Given the description of an element on the screen output the (x, y) to click on. 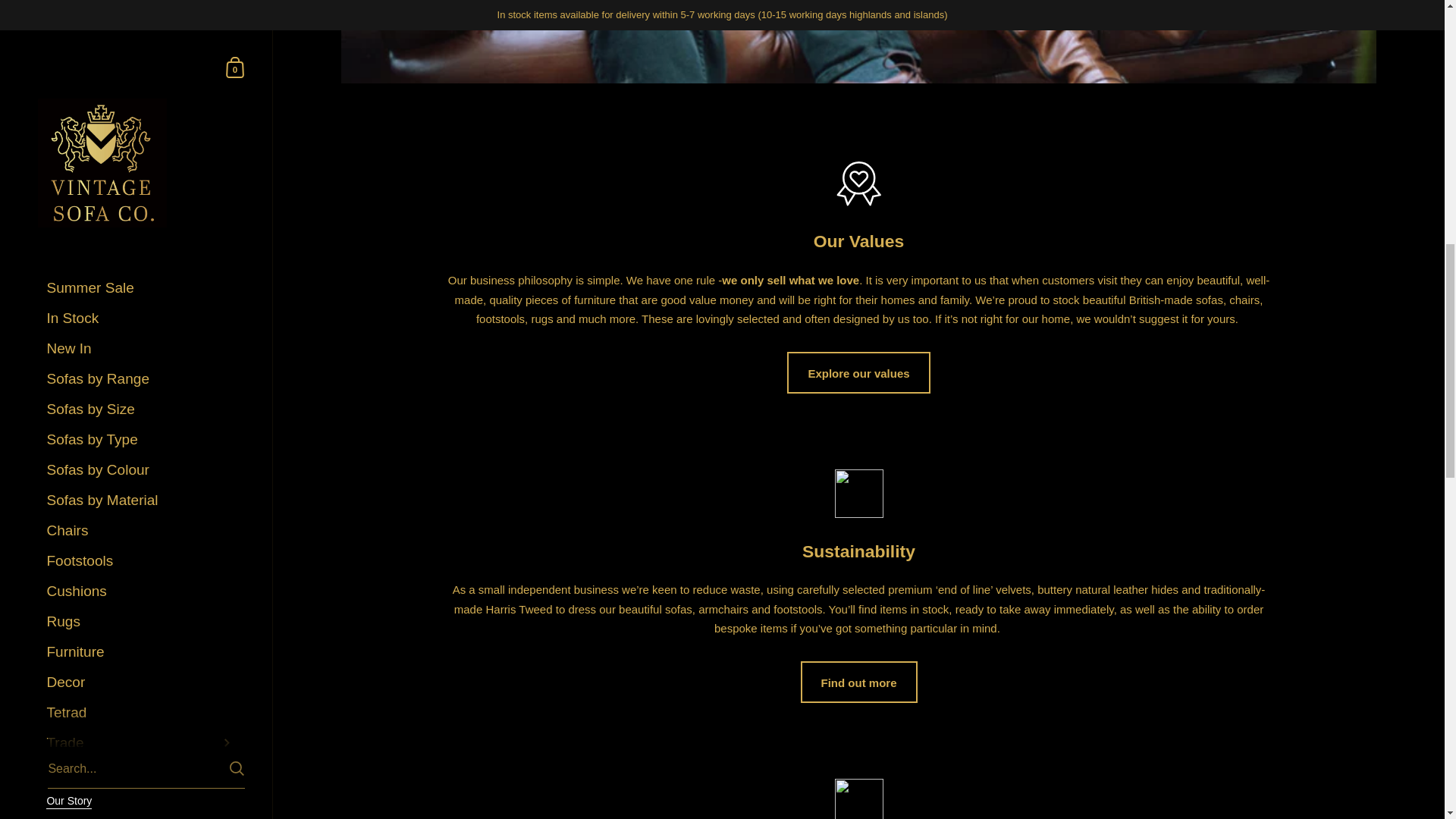
Pinterest (170, 133)
Phone (156, 164)
Explore our values (858, 372)
Visit our Showroom (141, 9)
Facebook (80, 133)
TikTok (201, 133)
Find out more (858, 681)
Email (125, 164)
Instagram (110, 133)
Login (141, 79)
